Given the description of an element on the screen output the (x, y) to click on. 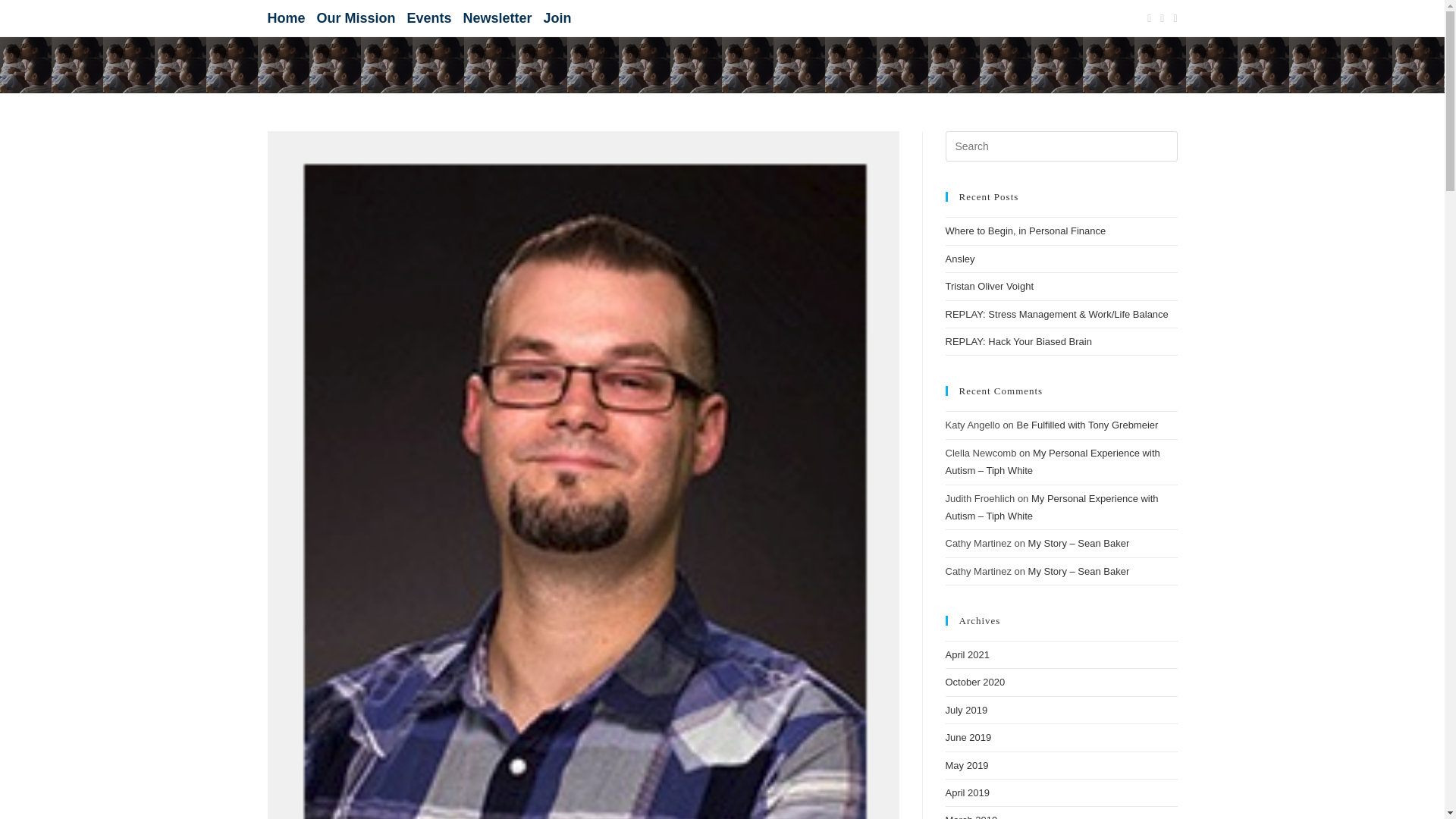
Newsletter (497, 17)
Where to Begin, in Personal Finance (1024, 230)
Our Mission (356, 17)
Home (285, 17)
Join (557, 17)
Events (429, 17)
